Given the description of an element on the screen output the (x, y) to click on. 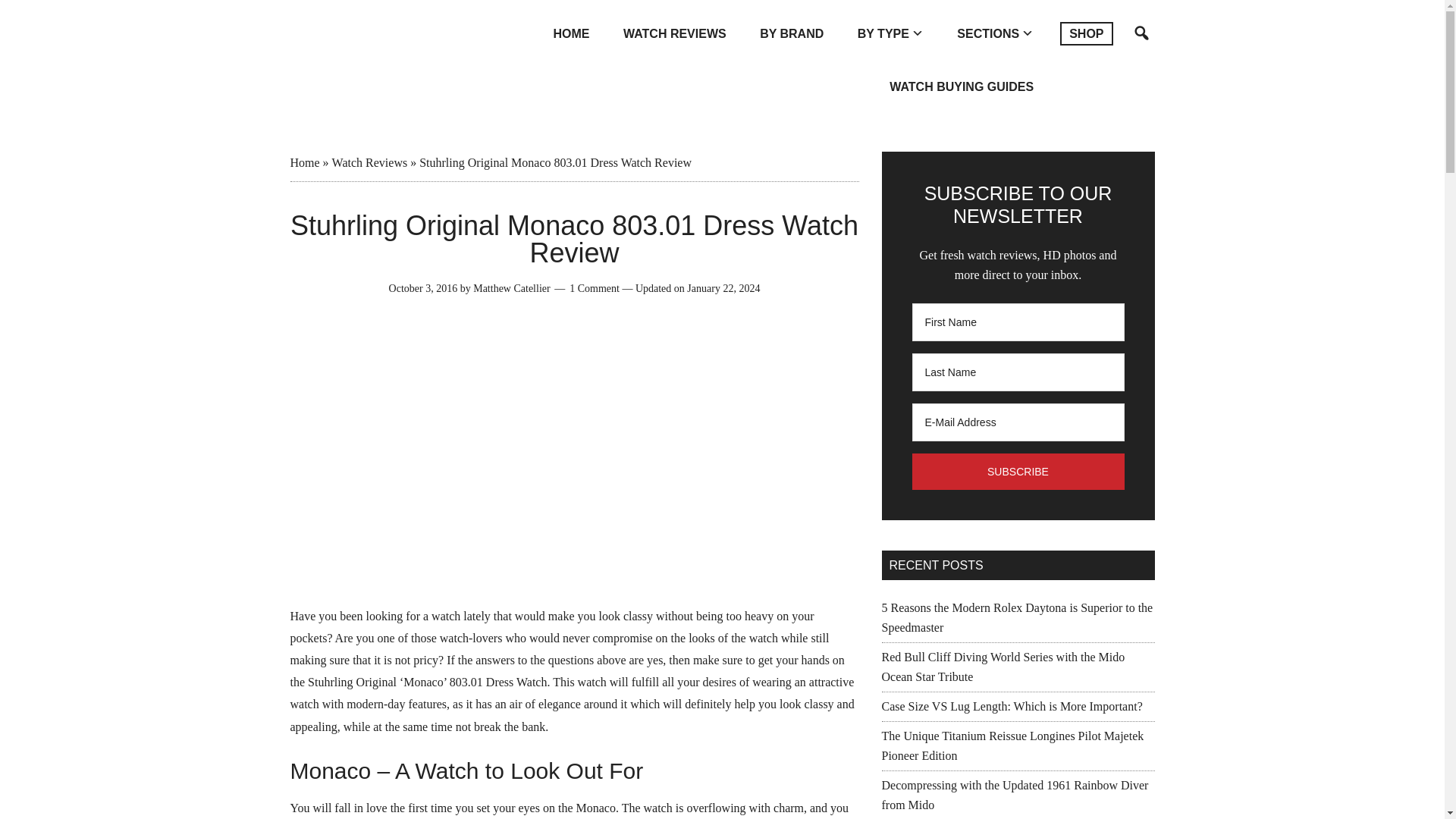
WATCH REVIEWS (674, 33)
WatchReviewBlog (380, 41)
BY TYPE (891, 33)
BY BRAND (791, 33)
WATCH BUYING GUIDES (961, 86)
Matthew Catellier (511, 288)
HOME (571, 33)
SUBSCRIBE (1017, 471)
1 Comment (594, 288)
Watch Reviews (369, 162)
